Given the description of an element on the screen output the (x, y) to click on. 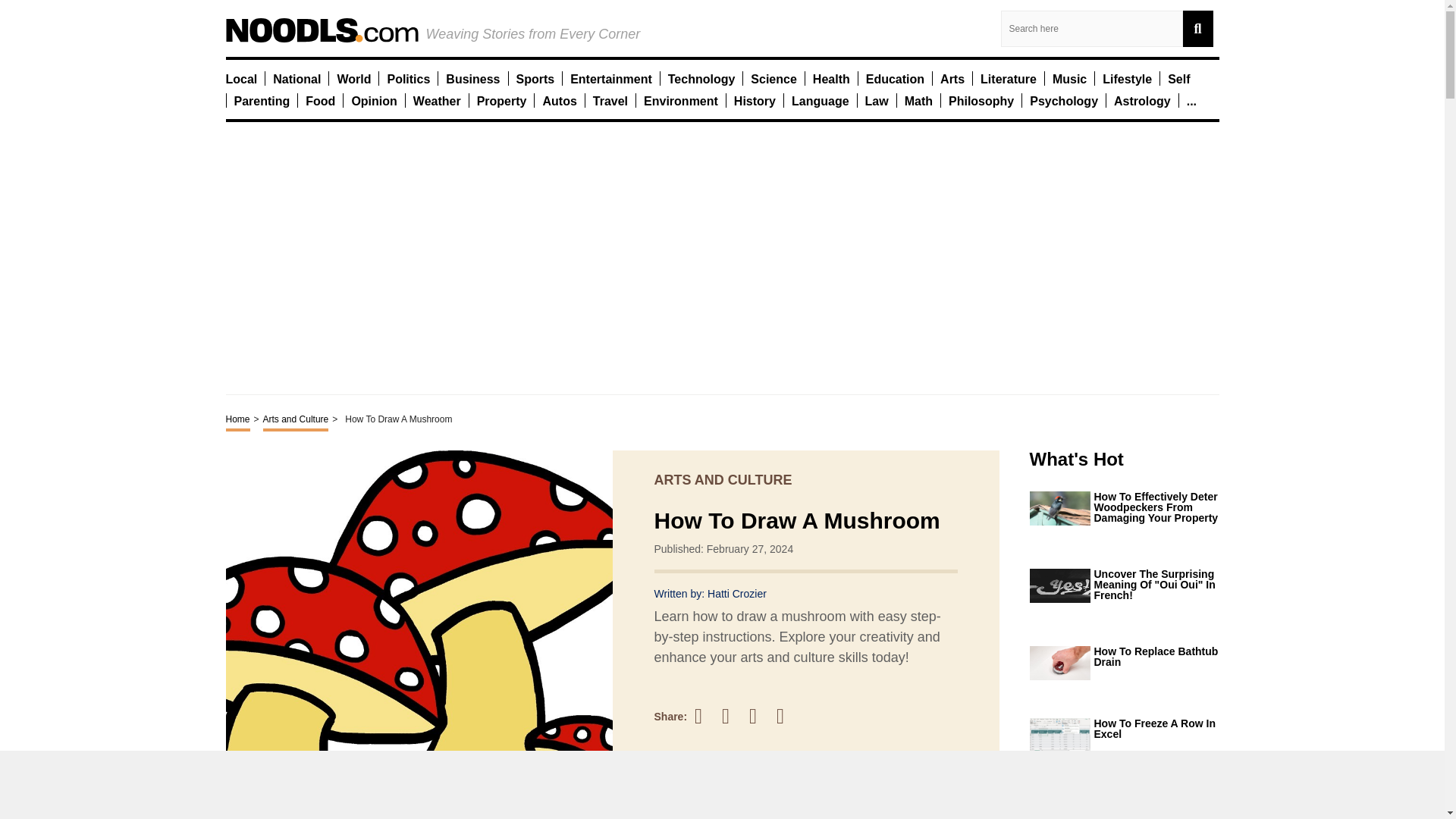
Arts (951, 78)
Science (773, 78)
Food (319, 100)
Education (895, 78)
Literature (1007, 78)
National (296, 78)
Environment (680, 100)
Technology (701, 78)
Politics (408, 78)
Property (502, 100)
Weather (437, 100)
Philosophy (981, 100)
History (754, 100)
Travel (609, 100)
Share on Twitter (732, 716)
